Given the description of an element on the screen output the (x, y) to click on. 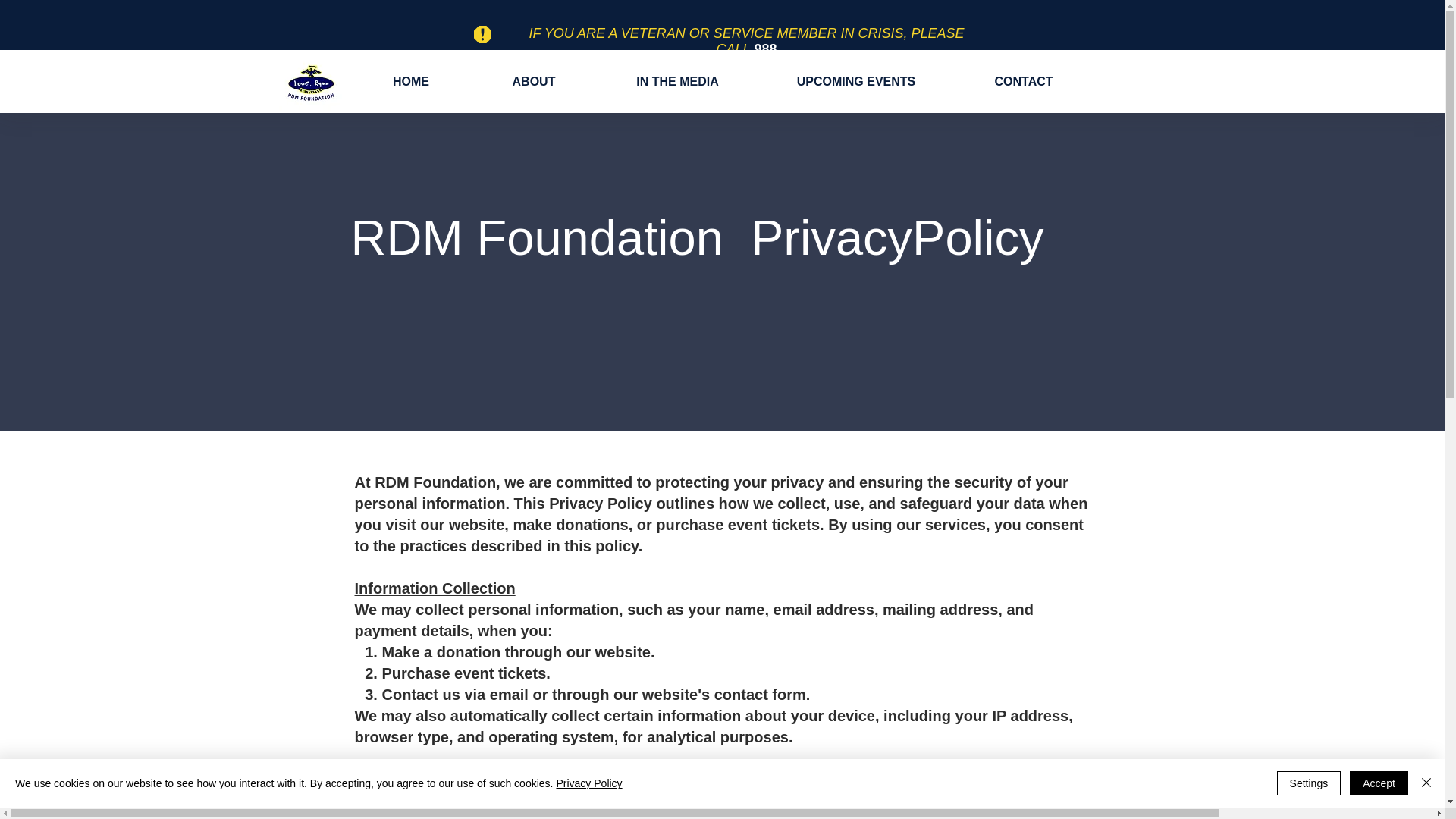
HOME (410, 81)
IN THE MEDIA (676, 81)
Settings (1308, 783)
ABOUT (533, 81)
Accept (1378, 783)
UPCOMING EVENTS (855, 81)
Privacy Policy (588, 783)
CONTACT (1023, 81)
